Given the description of an element on the screen output the (x, y) to click on. 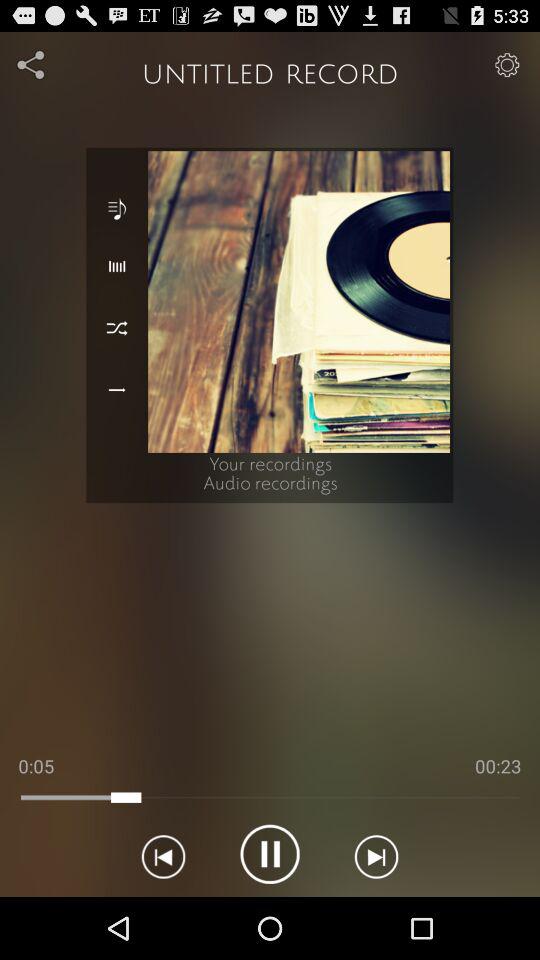
share sound (32, 64)
